Given the description of an element on the screen output the (x, y) to click on. 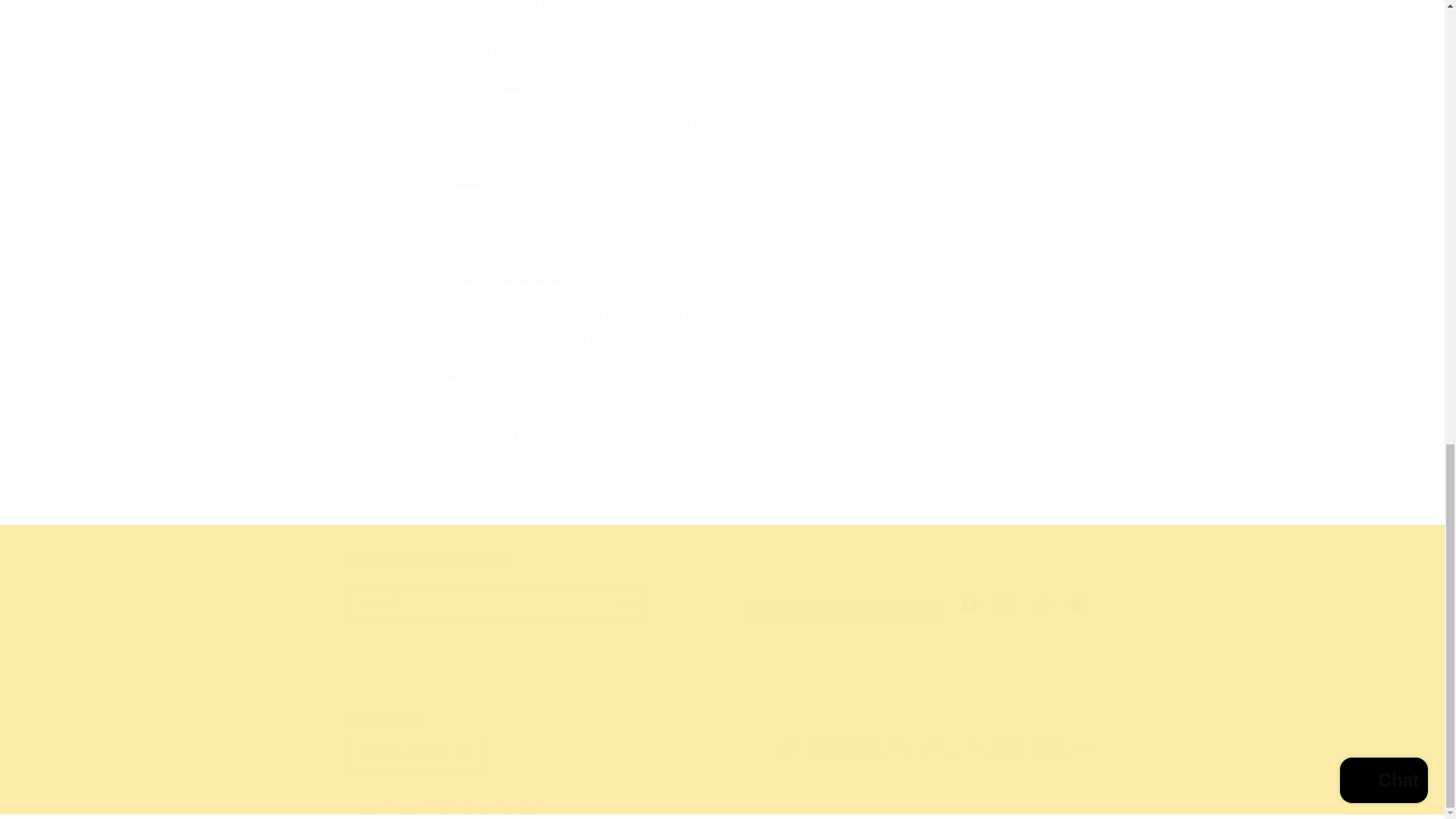
TikTok (1043, 605)
Facebook (968, 605)
Instagram (1005, 605)
Pinterest (1079, 605)
